Given the description of an element on the screen output the (x, y) to click on. 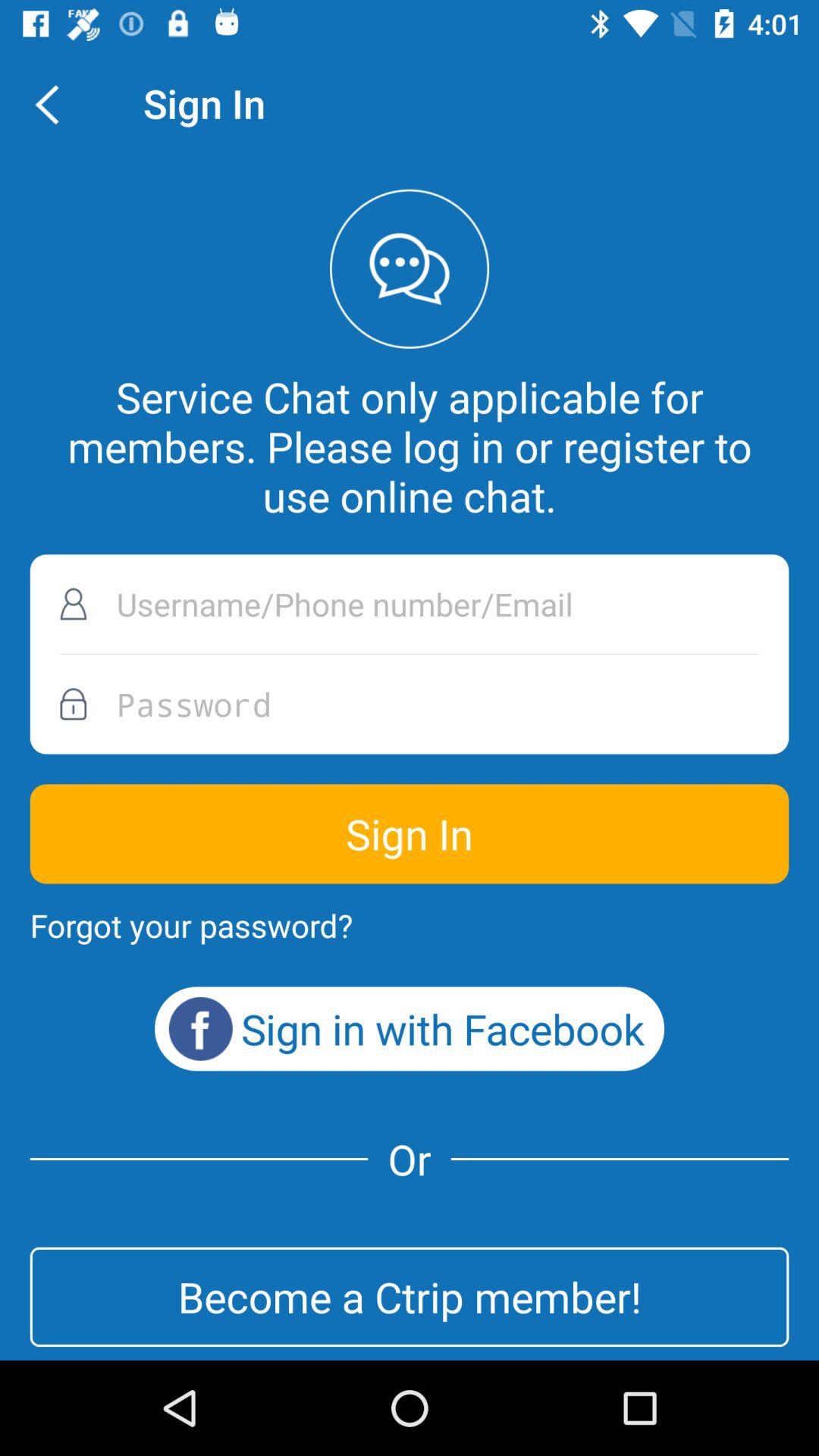
enter password (409, 704)
